Given the description of an element on the screen output the (x, y) to click on. 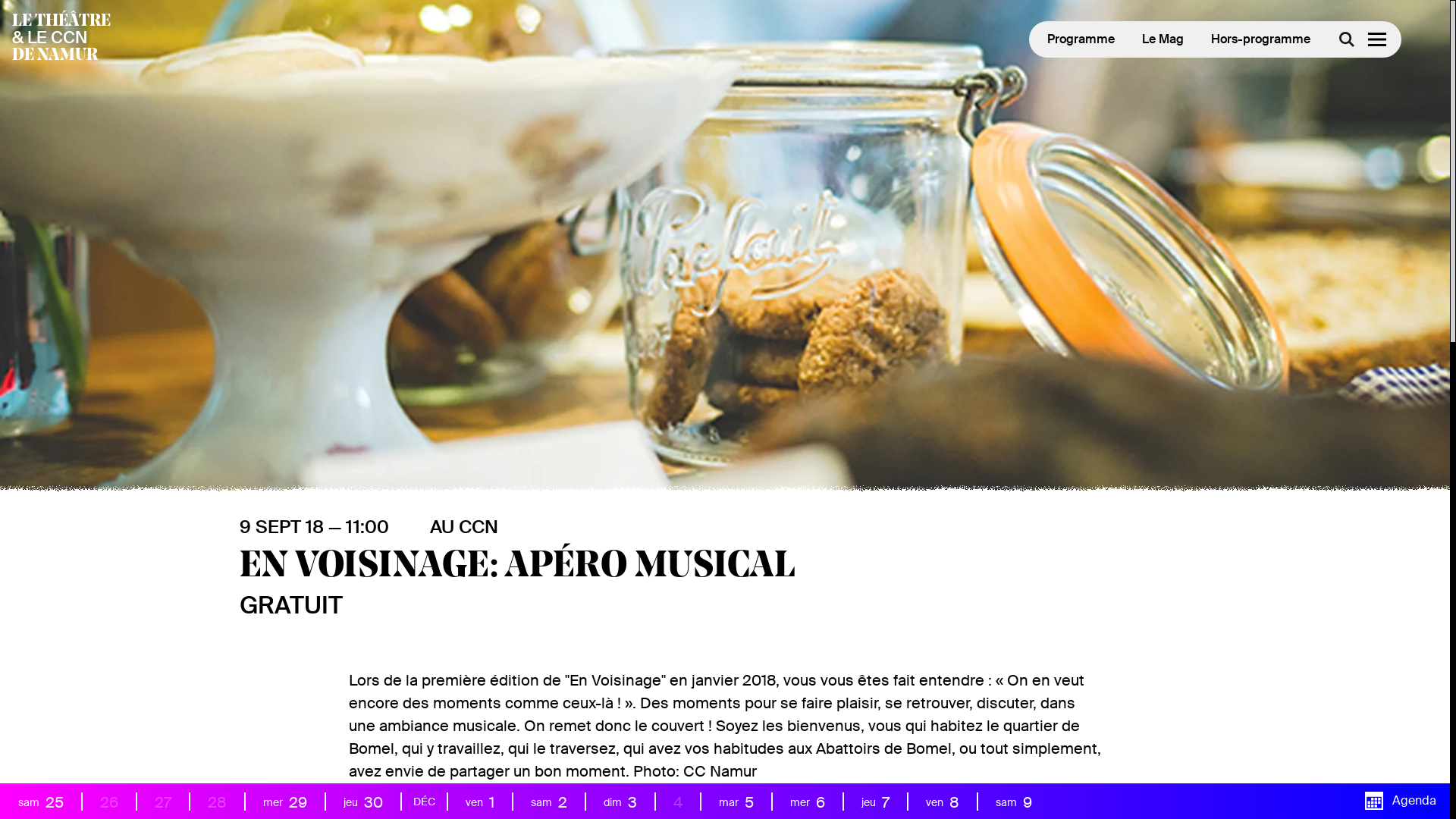
mer 6 Element type: text (807, 801)
jeu 30 Element type: text (363, 801)
ven 1 Element type: text (479, 801)
Programme Element type: text (1080, 39)
Hors-programme Element type: text (1260, 39)
sam 2 Element type: text (548, 801)
jeu 7 Element type: text (875, 801)
Le Mag Element type: text (1162, 39)
mer 29 Element type: text (285, 801)
mar 5 Element type: text (735, 801)
Agenda Element type: text (1401, 800)
sam 9 Element type: text (1013, 801)
dim 3 Element type: text (620, 801)
sam 25 Element type: text (40, 801)
ven 8 Element type: text (942, 801)
